Given the description of an element on the screen output the (x, y) to click on. 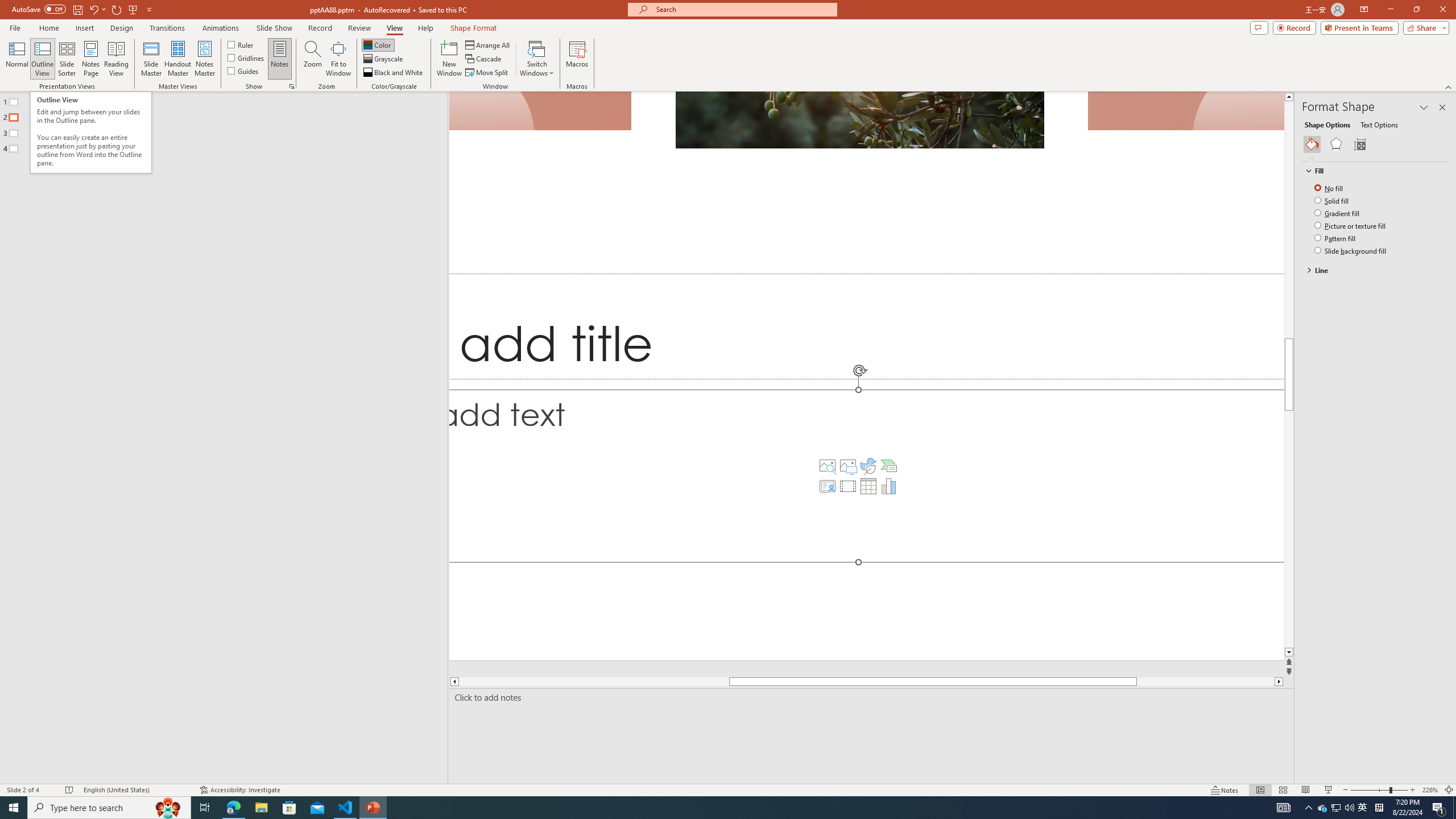
Text Options (1379, 124)
Effects (1335, 144)
Picture or texture fill (1350, 225)
